Given the description of an element on the screen output the (x, y) to click on. 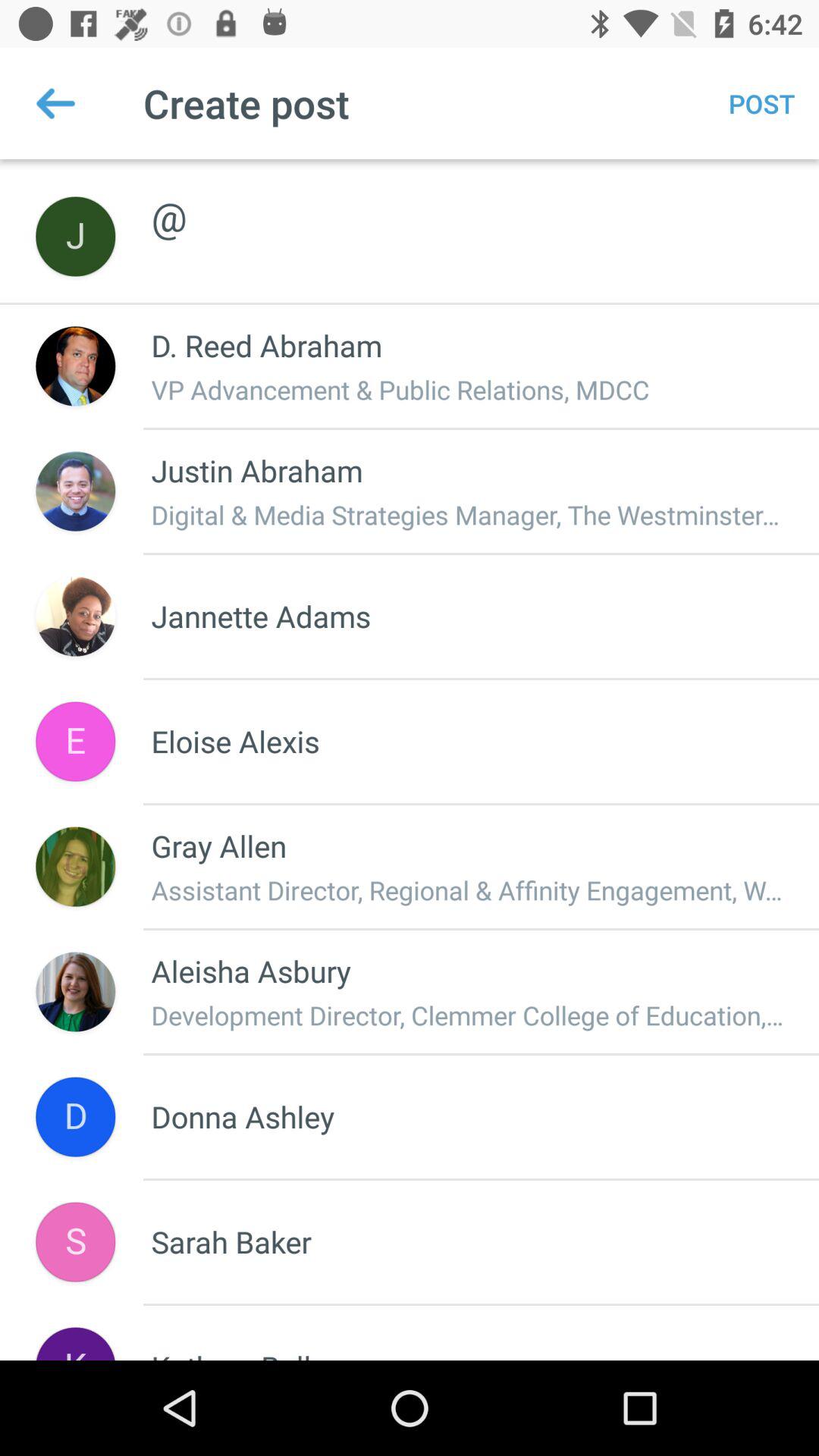
turn off the @ icon (469, 200)
